Given the description of an element on the screen output the (x, y) to click on. 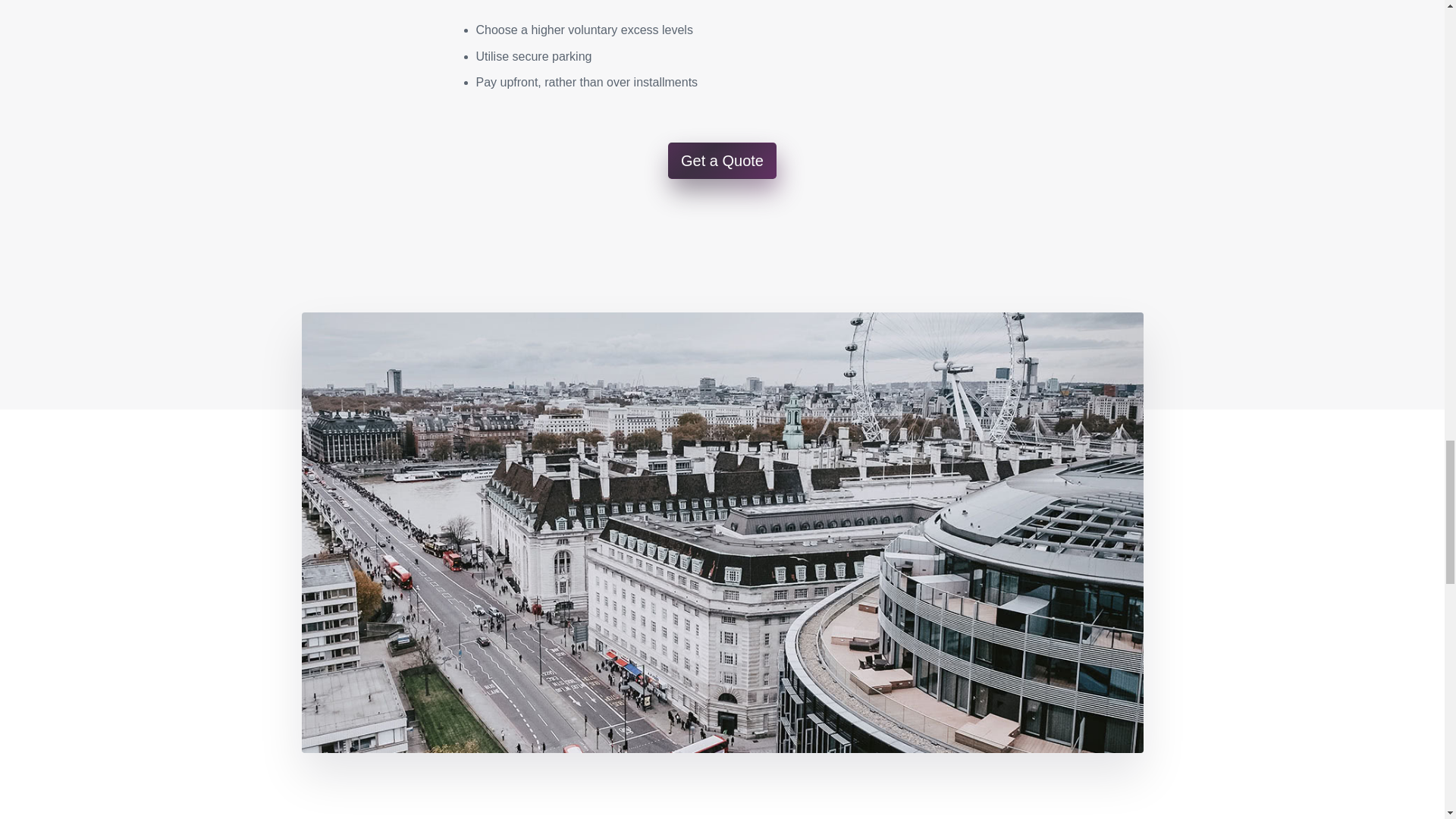
Get a Quote (722, 160)
